Given the description of an element on the screen output the (x, y) to click on. 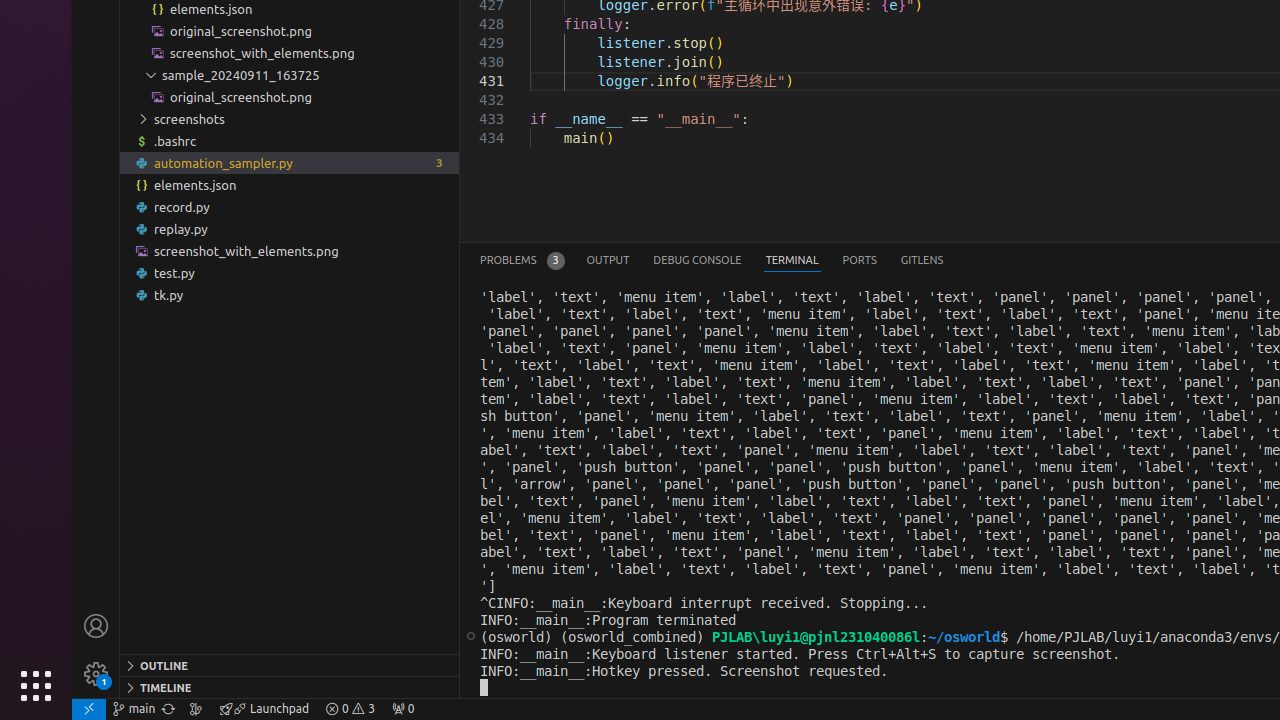
Ports Element type: page-tab (859, 260)
Terminal (Ctrl+`) Element type: page-tab (792, 260)
Outline Section Element type: push-button (289, 665)
Manage - New Code update available. Element type: push-button (96, 674)
Problems (Ctrl+Shift+M) - Total 3 Problems Element type: page-tab (521, 260)
